Given the description of an element on the screen output the (x, y) to click on. 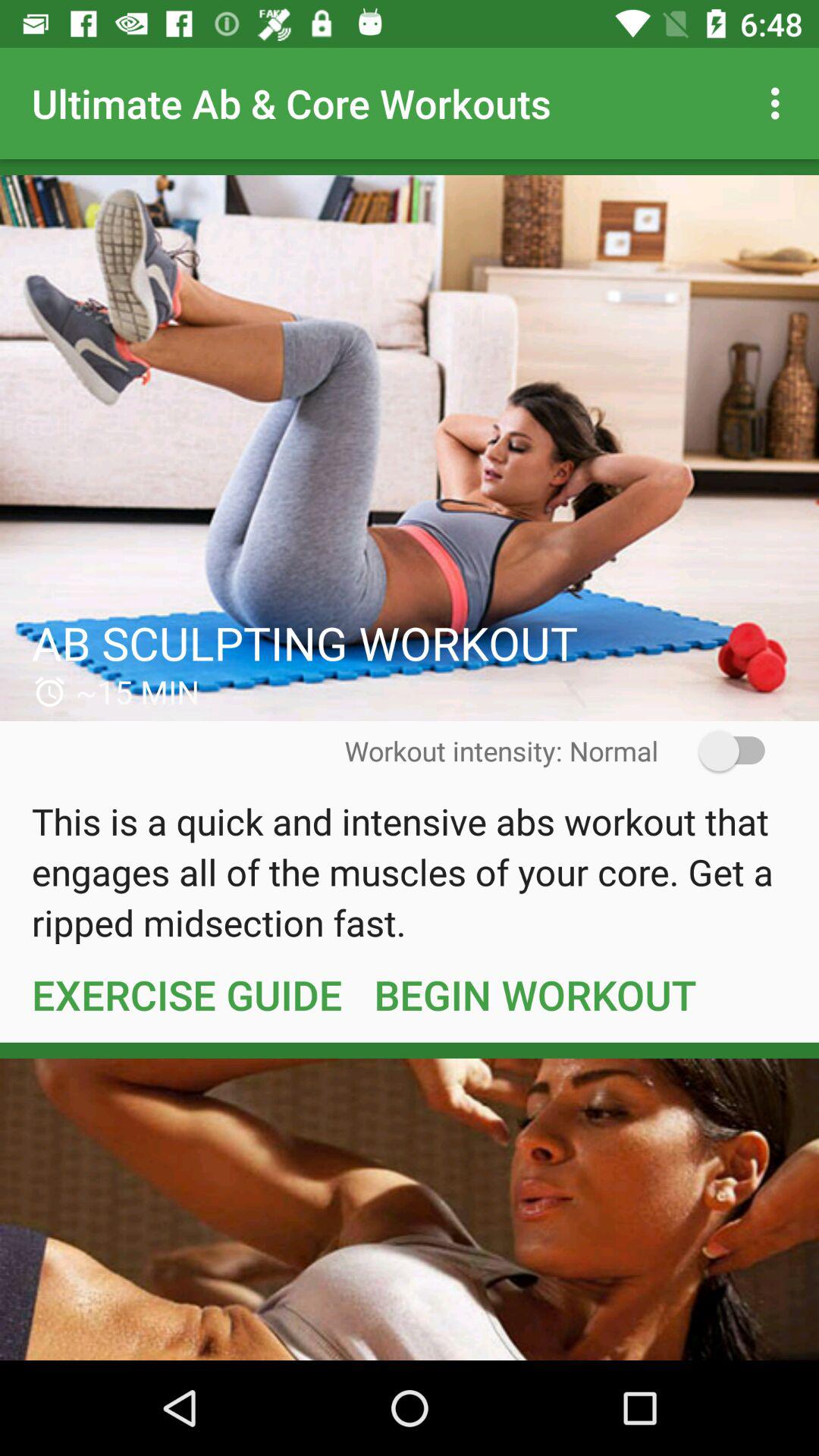
tap icon on the right (722, 750)
